Given the description of an element on the screen output the (x, y) to click on. 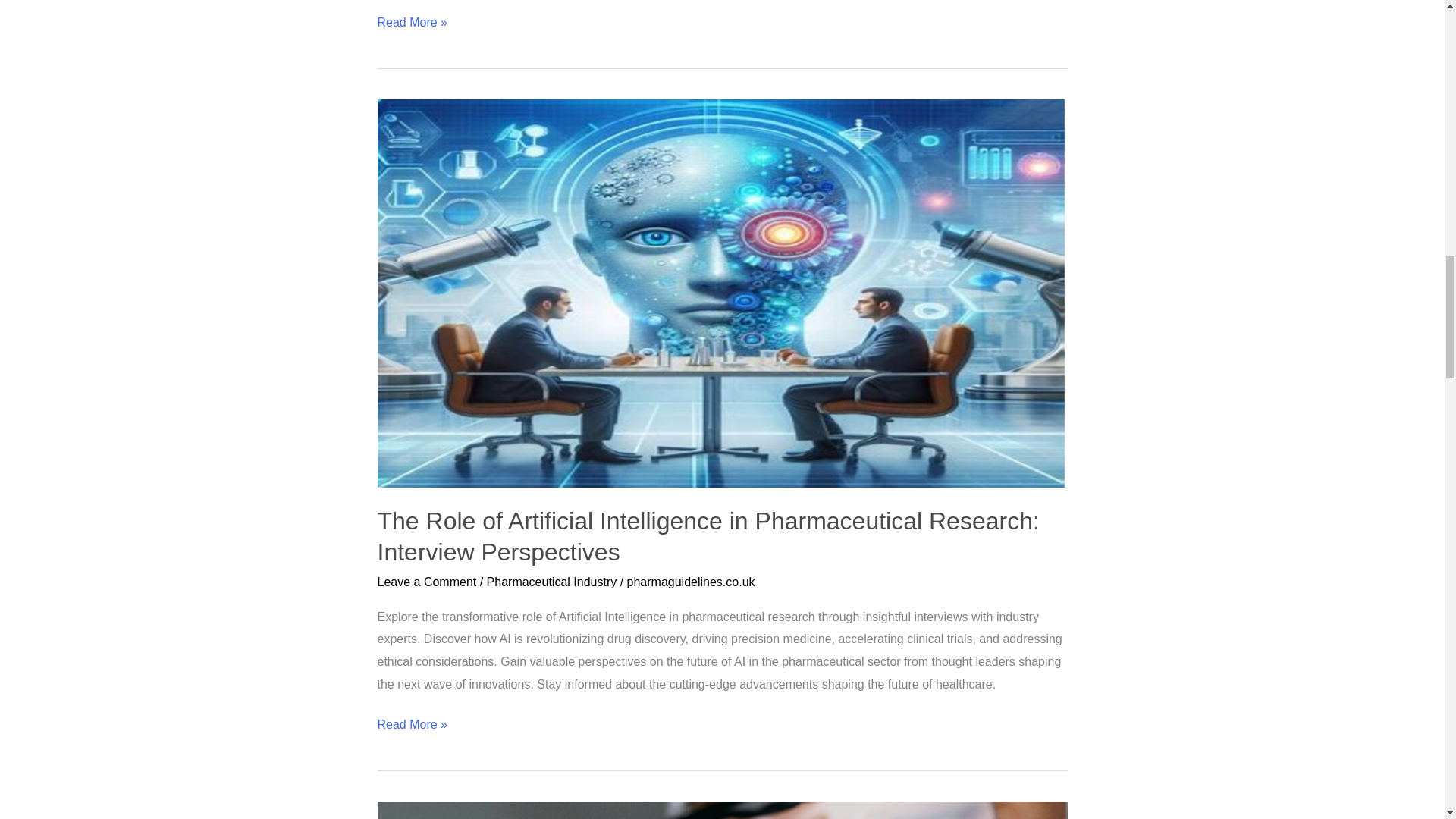
Pharmaceutical Industry (551, 581)
pharmaguidelines.co.uk (691, 581)
Leave a Comment (427, 581)
View all posts by pharmaguidelines.co.uk (691, 581)
